Given the description of an element on the screen output the (x, y) to click on. 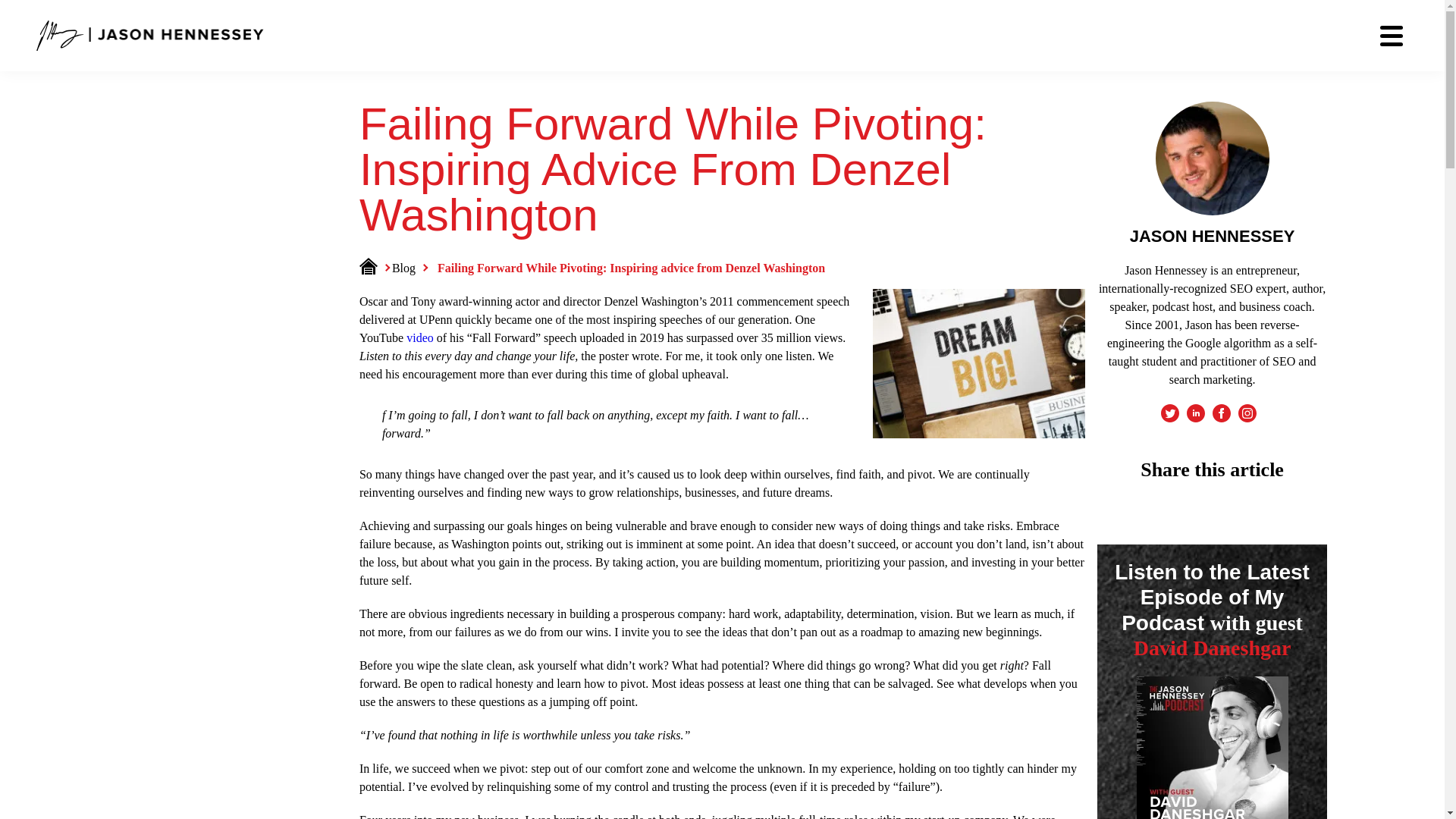
Latest Epispde (1212, 747)
video (419, 337)
Jason Hennessey (149, 35)
Jason Hennessey (149, 30)
Blog (408, 267)
Home (373, 267)
